Given the description of an element on the screen output the (x, y) to click on. 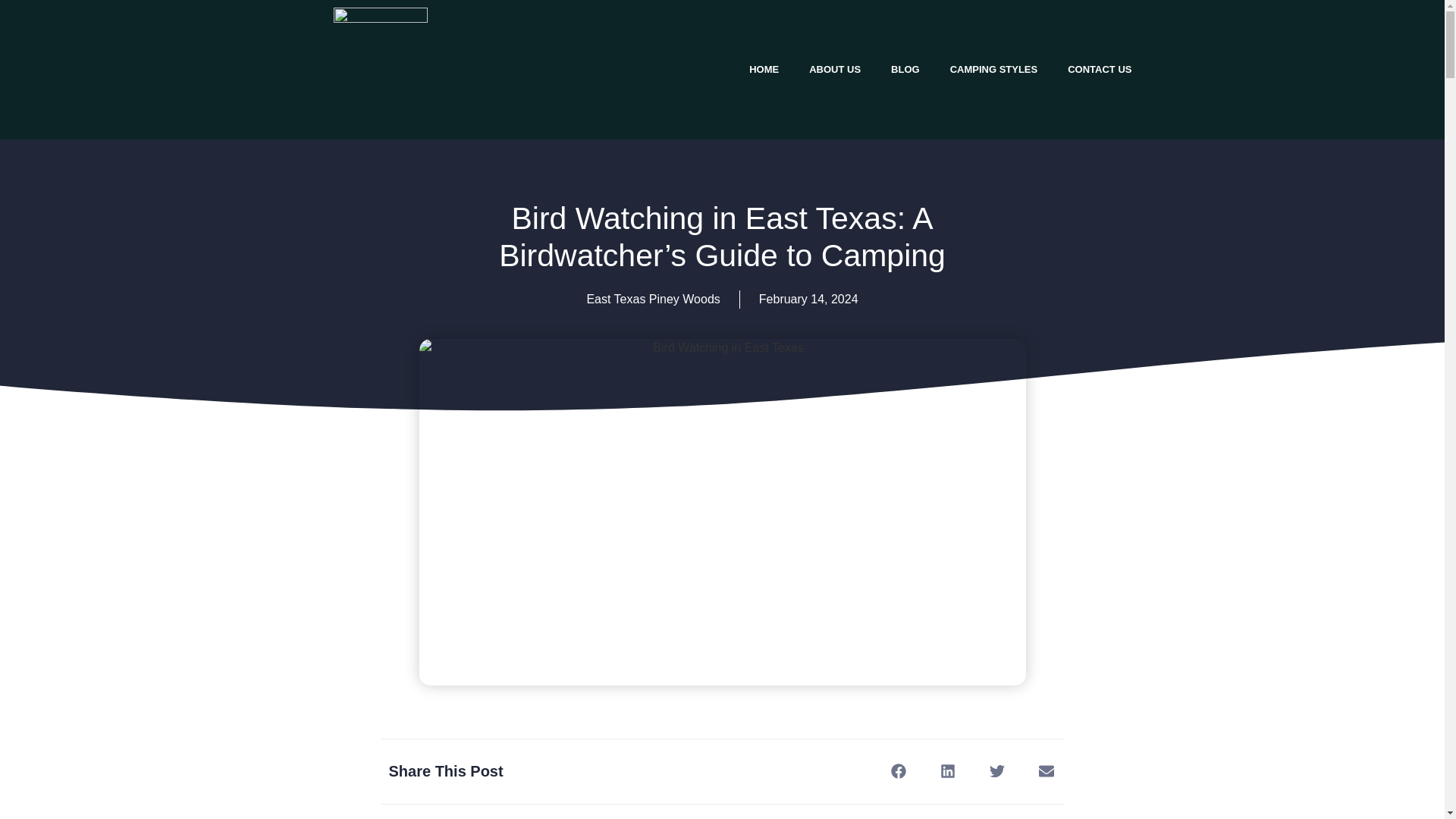
East Texas Piney Woods (652, 298)
BLOG (905, 69)
CONTACT US (1099, 69)
HOME (763, 69)
CAMPING STYLES (993, 69)
ABOUT US (834, 69)
February 14, 2024 (808, 299)
